Given the description of an element on the screen output the (x, y) to click on. 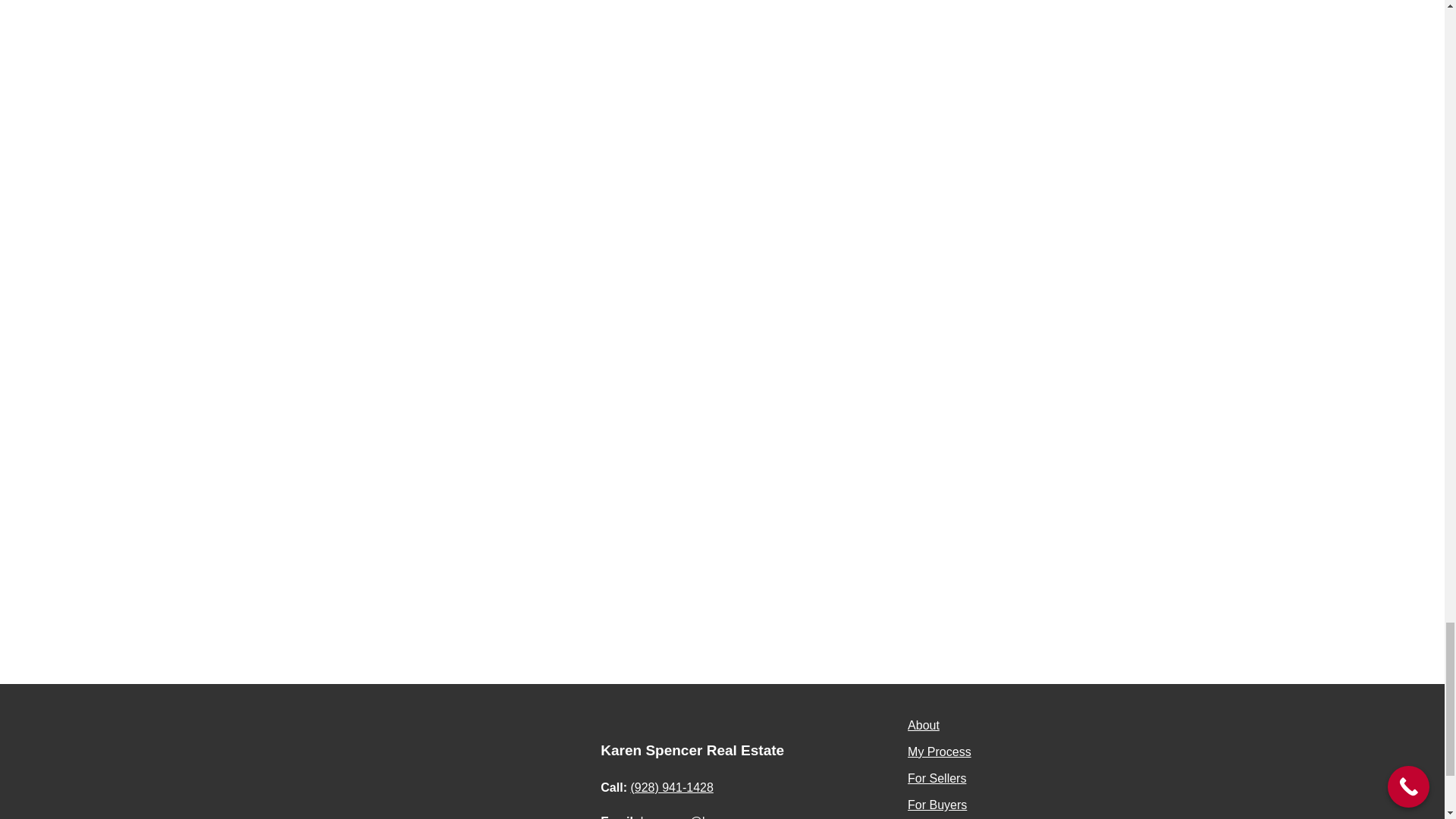
For Buyers (936, 804)
My Process (939, 751)
For Sellers (936, 778)
About (923, 725)
